Given the description of an element on the screen output the (x, y) to click on. 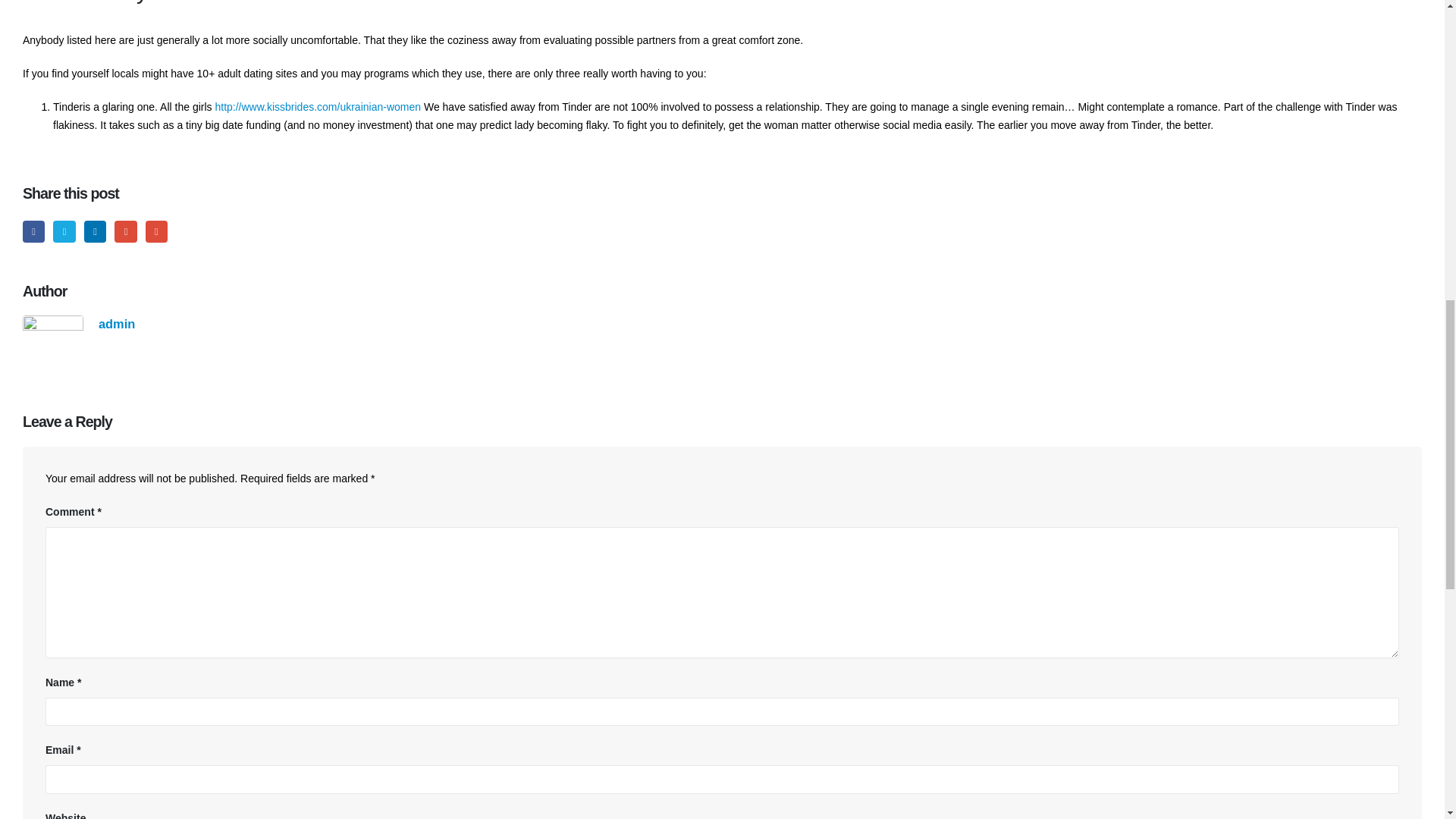
Email (156, 231)
Facebook (34, 231)
LinkedIn (95, 231)
admin (117, 323)
Posts by admin (117, 323)
Twitter (63, 231)
